Given the description of an element on the screen output the (x, y) to click on. 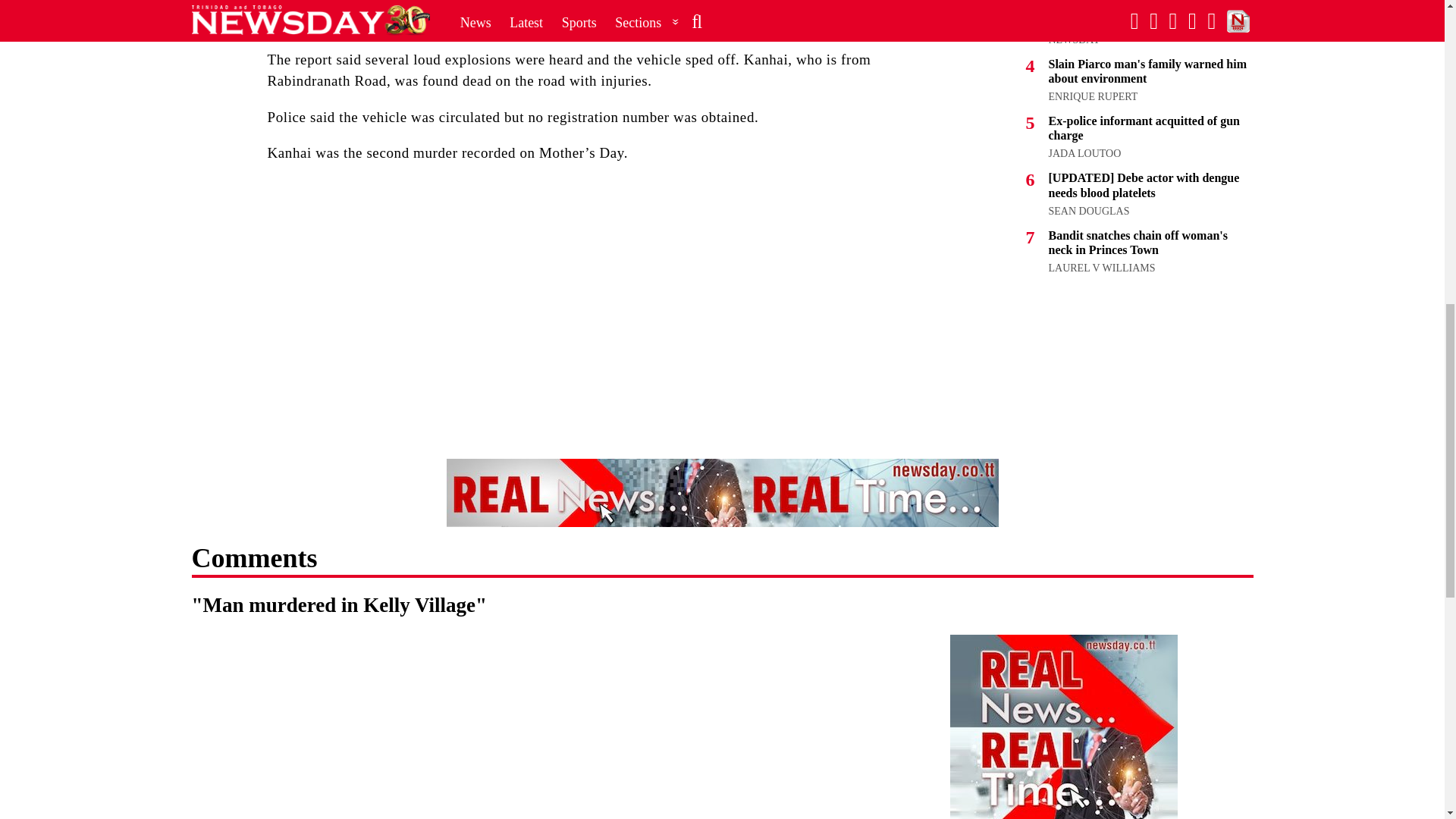
Questions for WASA, CAL (1117, 21)
JADA LOUTOO (1084, 153)
SEAN DOUGLAS (1088, 211)
DARREN BAHAW (1091, 1)
Slain Piarco man's family warned him about environment (1147, 71)
Bandit snatches chain off woman's neck in Princes Town (1137, 242)
NEWSDAY (1074, 39)
ENRIQUE RUPERT (1092, 96)
Ex-police informant acquitted of gun charge (1143, 127)
LAUREL V WILLIAMS (1101, 267)
